Given the description of an element on the screen output the (x, y) to click on. 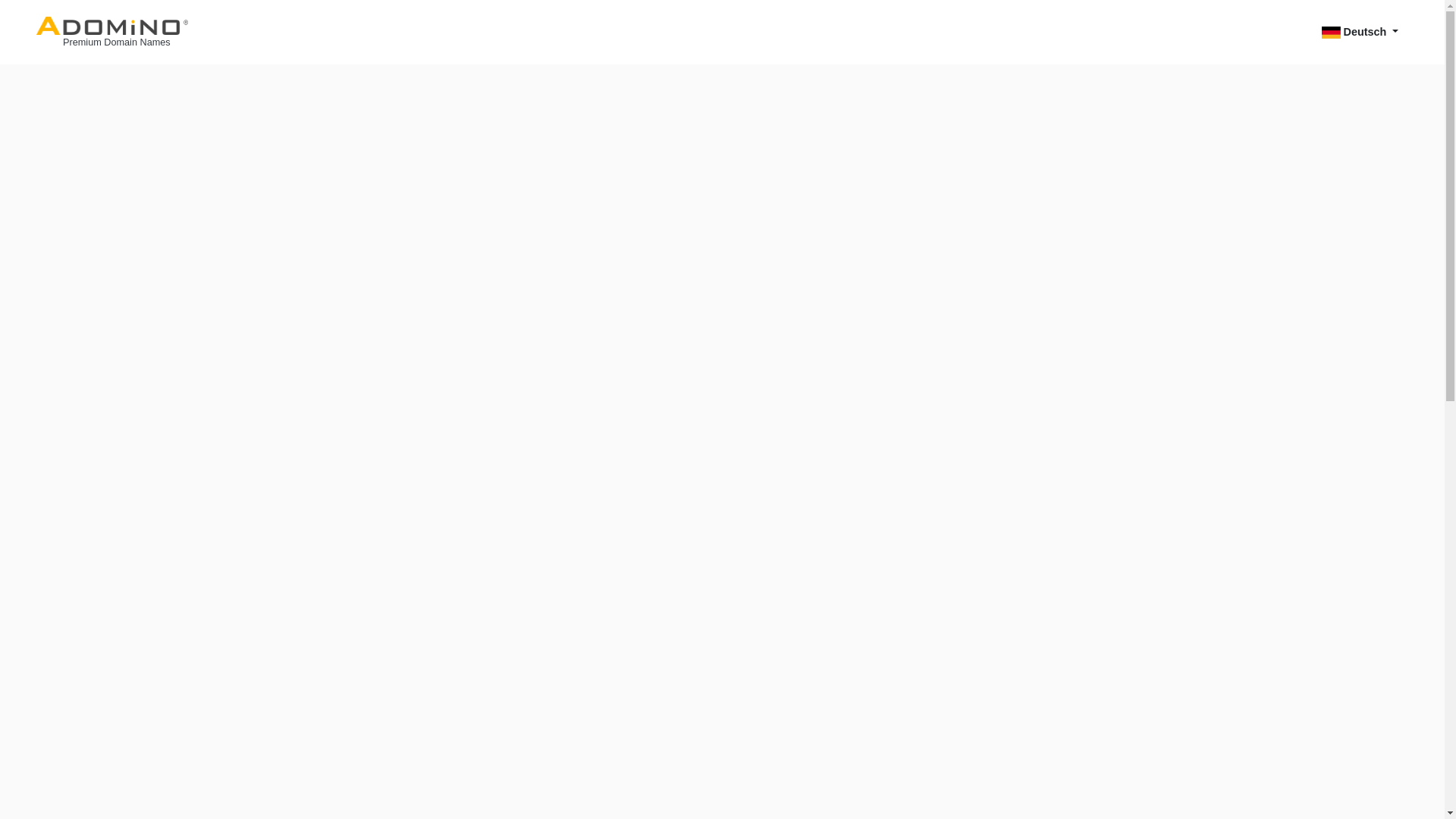
Deutsch Element type: text (1359, 32)
Premium Domain Names Element type: text (112, 31)
